Given the description of an element on the screen output the (x, y) to click on. 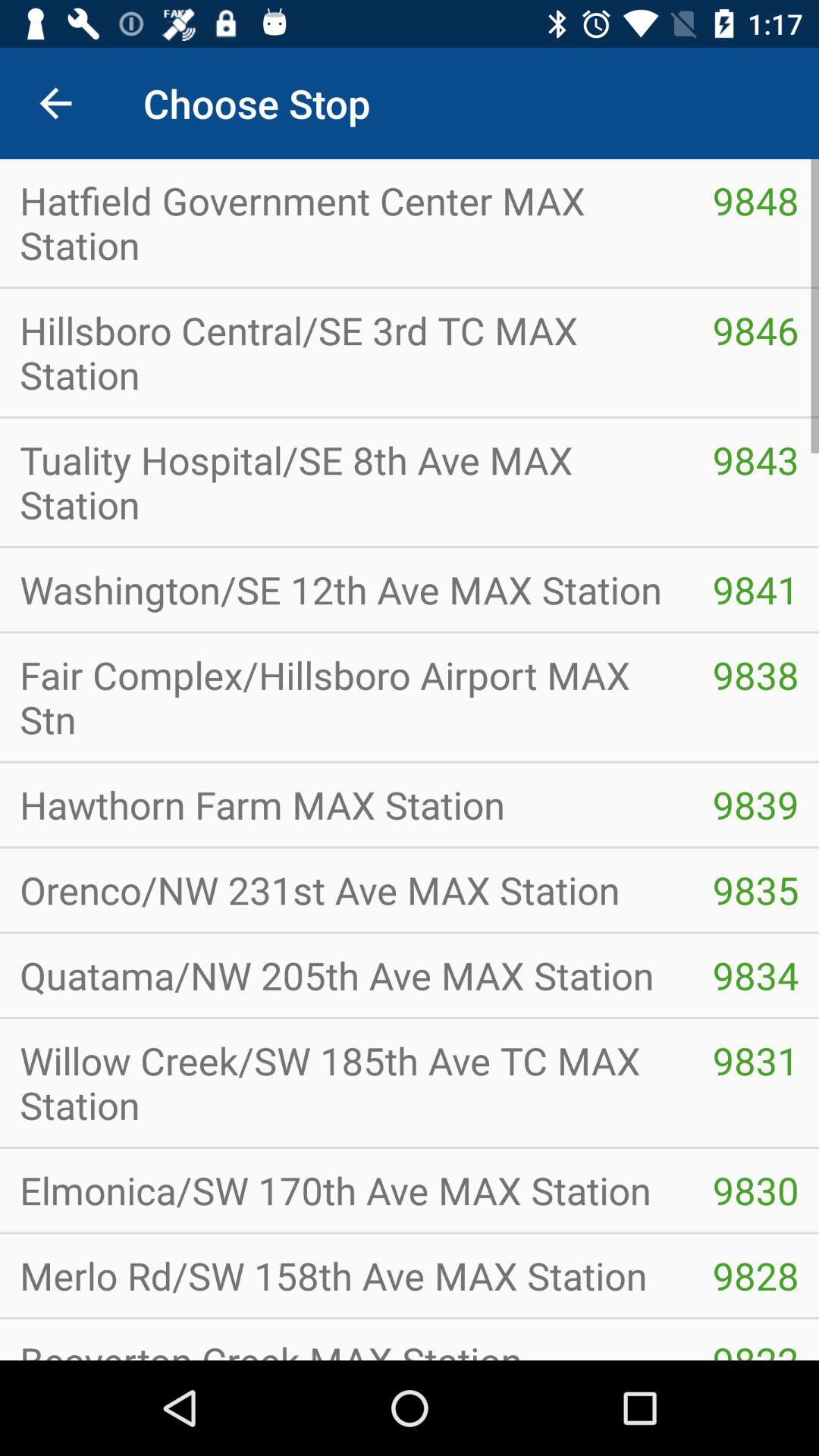
turn on the item next to willow creek sw (755, 1189)
